Given the description of an element on the screen output the (x, y) to click on. 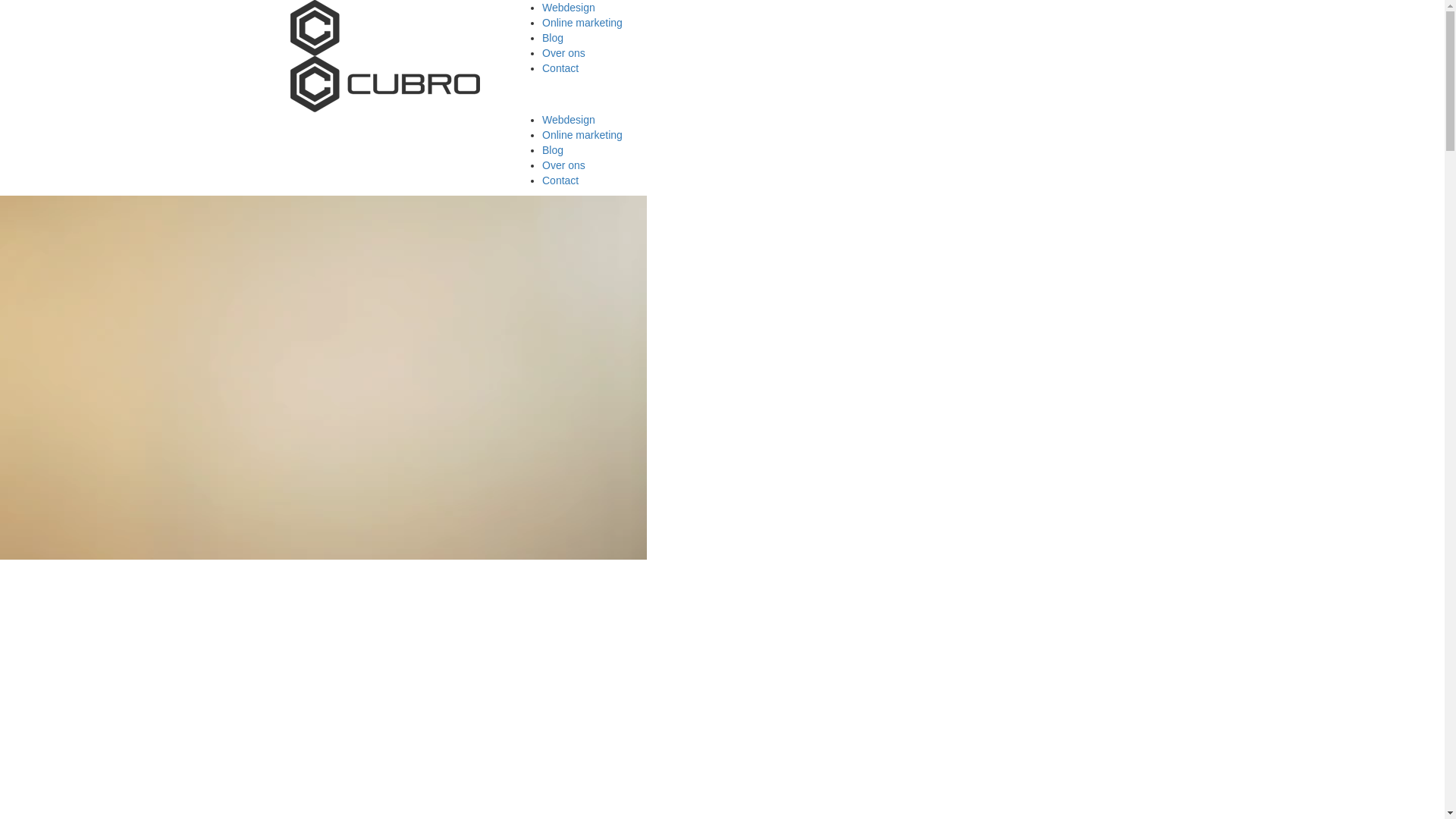
Contact Element type: text (560, 68)
Blog Element type: text (552, 37)
Webdesign Element type: text (568, 119)
Contact Element type: text (560, 180)
Blog Element type: text (552, 150)
Online marketing Element type: text (582, 134)
Over ons Element type: text (563, 165)
Online marketing Element type: text (582, 22)
Over ons Element type: text (563, 53)
Webdesign Element type: text (568, 7)
